Given the description of an element on the screen output the (x, y) to click on. 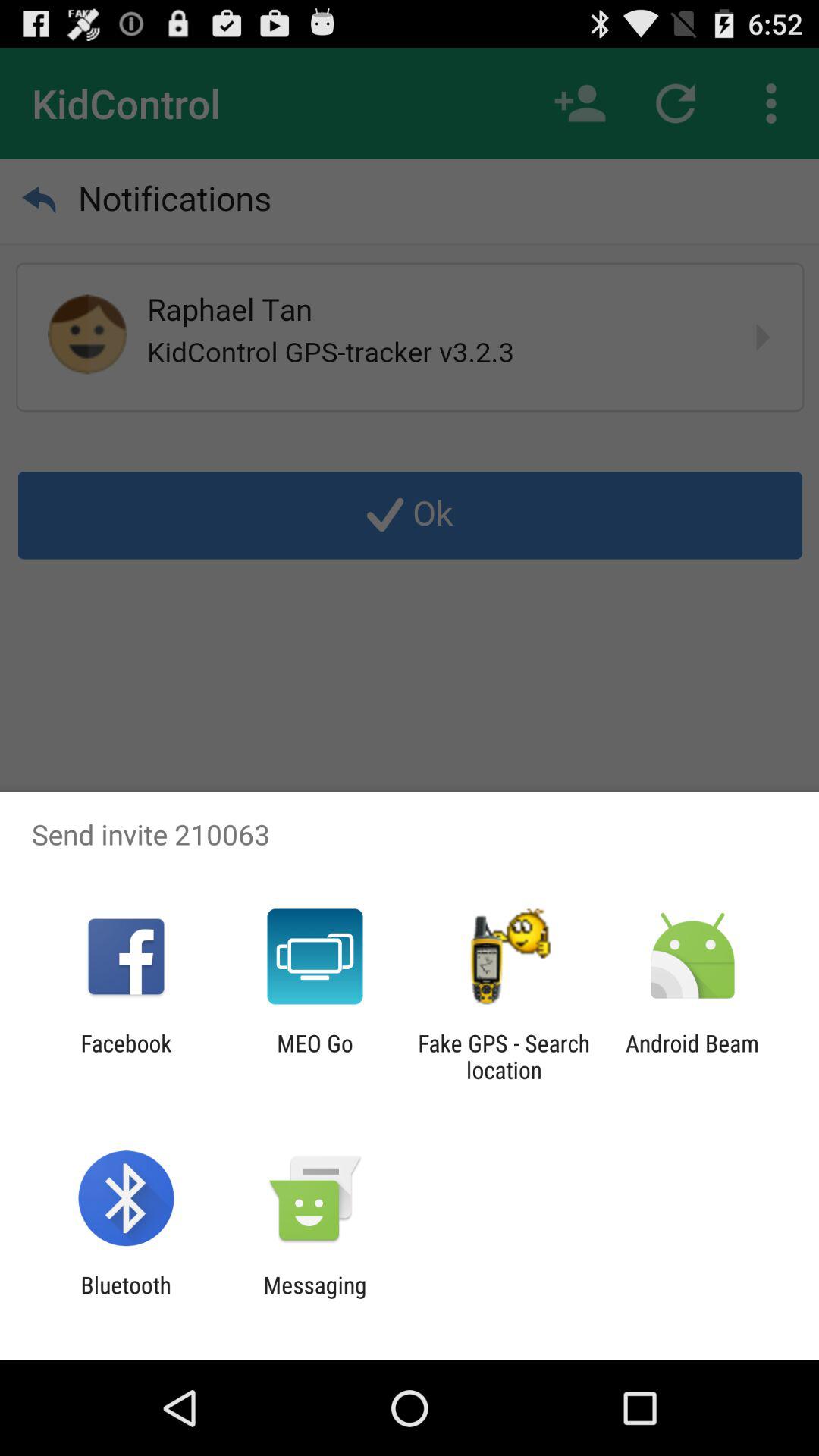
turn off facebook item (125, 1056)
